Given the description of an element on the screen output the (x, y) to click on. 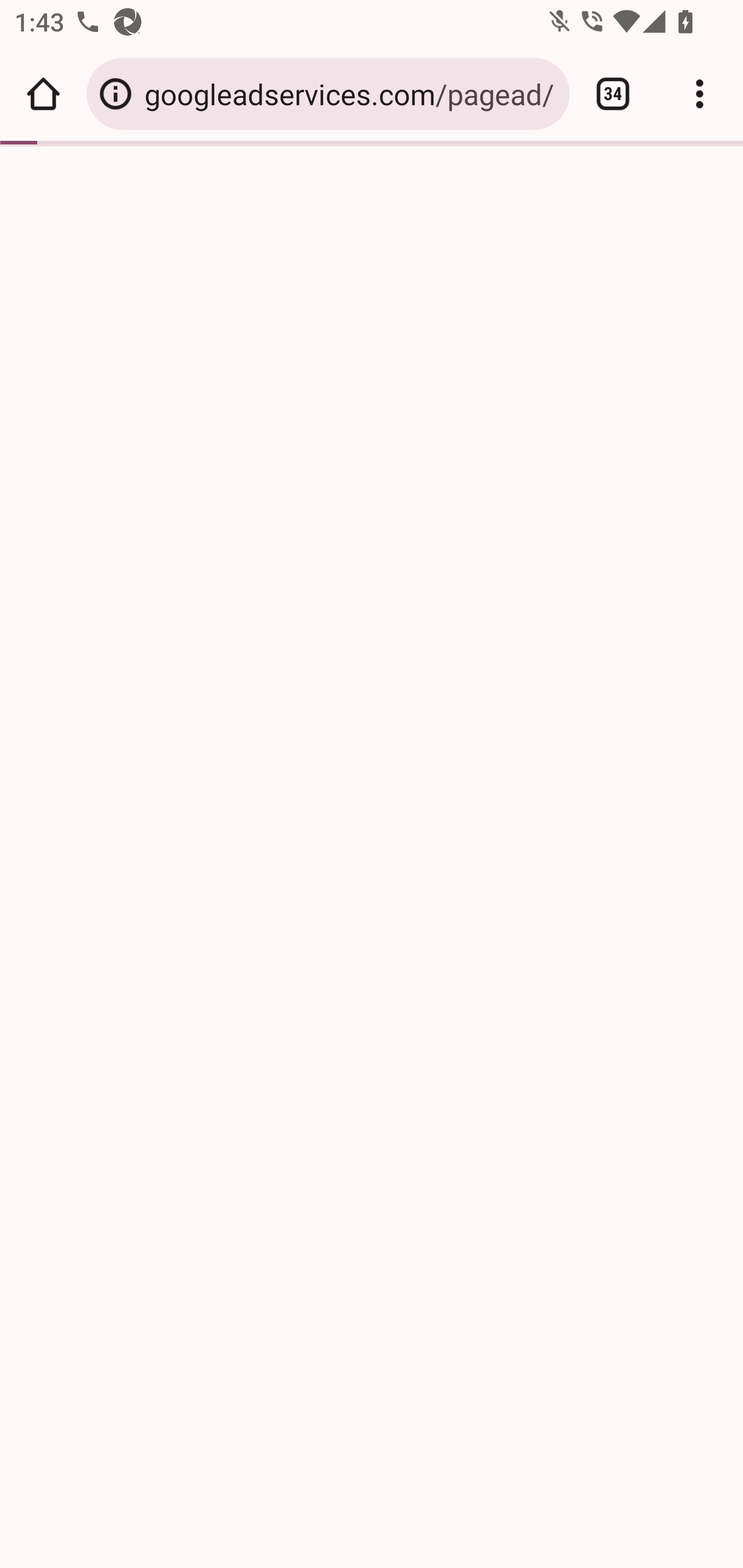
Open the home page (43, 93)
Your connection to this site is not secure (115, 93)
Switch or close tabs (612, 93)
Customize and control Google Chrome (699, 93)
